Given the description of an element on the screen output the (x, y) to click on. 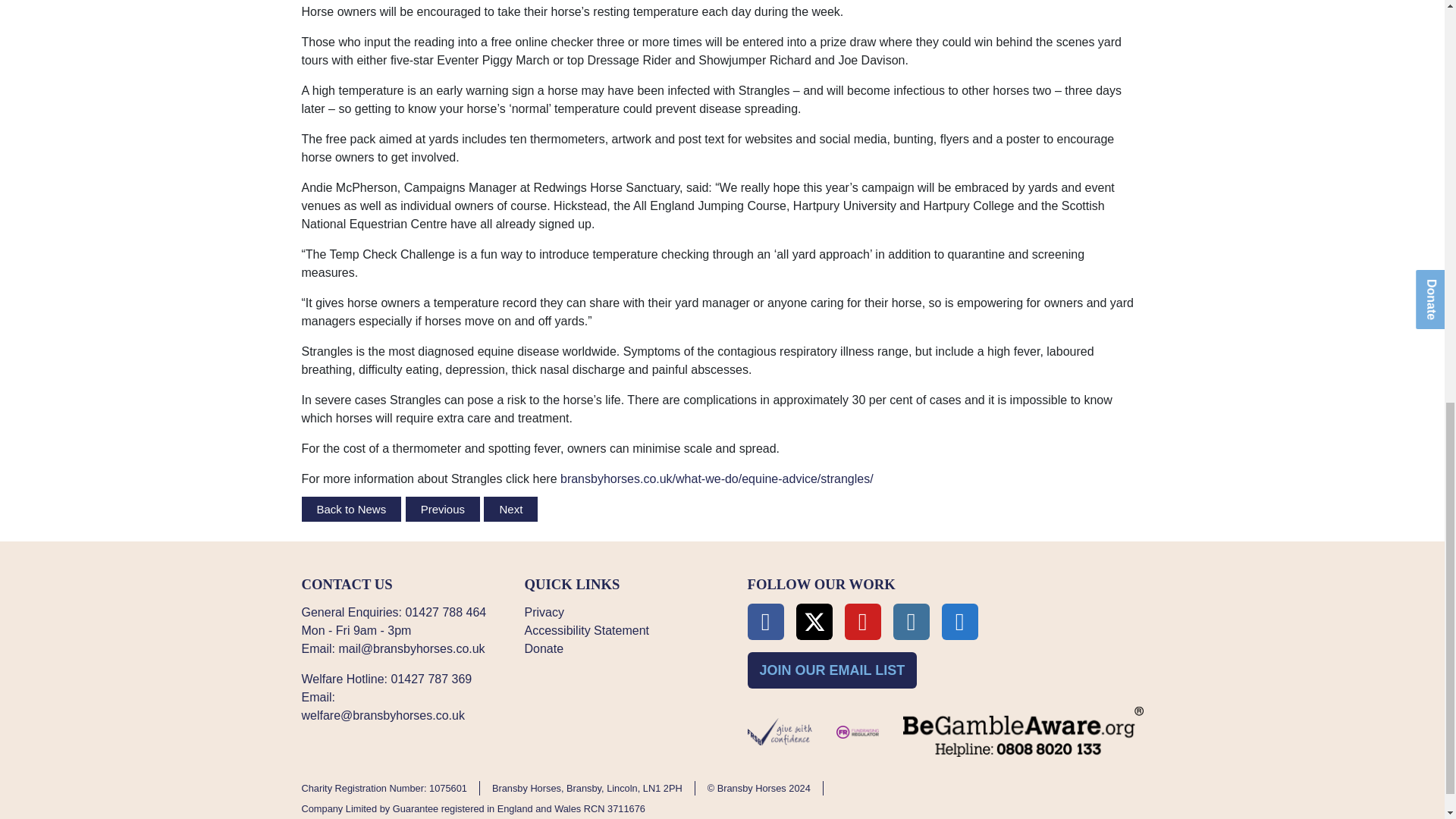
Previous (443, 508)
Twitter (814, 621)
Back to News (352, 508)
Facebook (766, 621)
LinkedIn (960, 621)
Instagram (911, 621)
YouTube (862, 621)
